Given the description of an element on the screen output the (x, y) to click on. 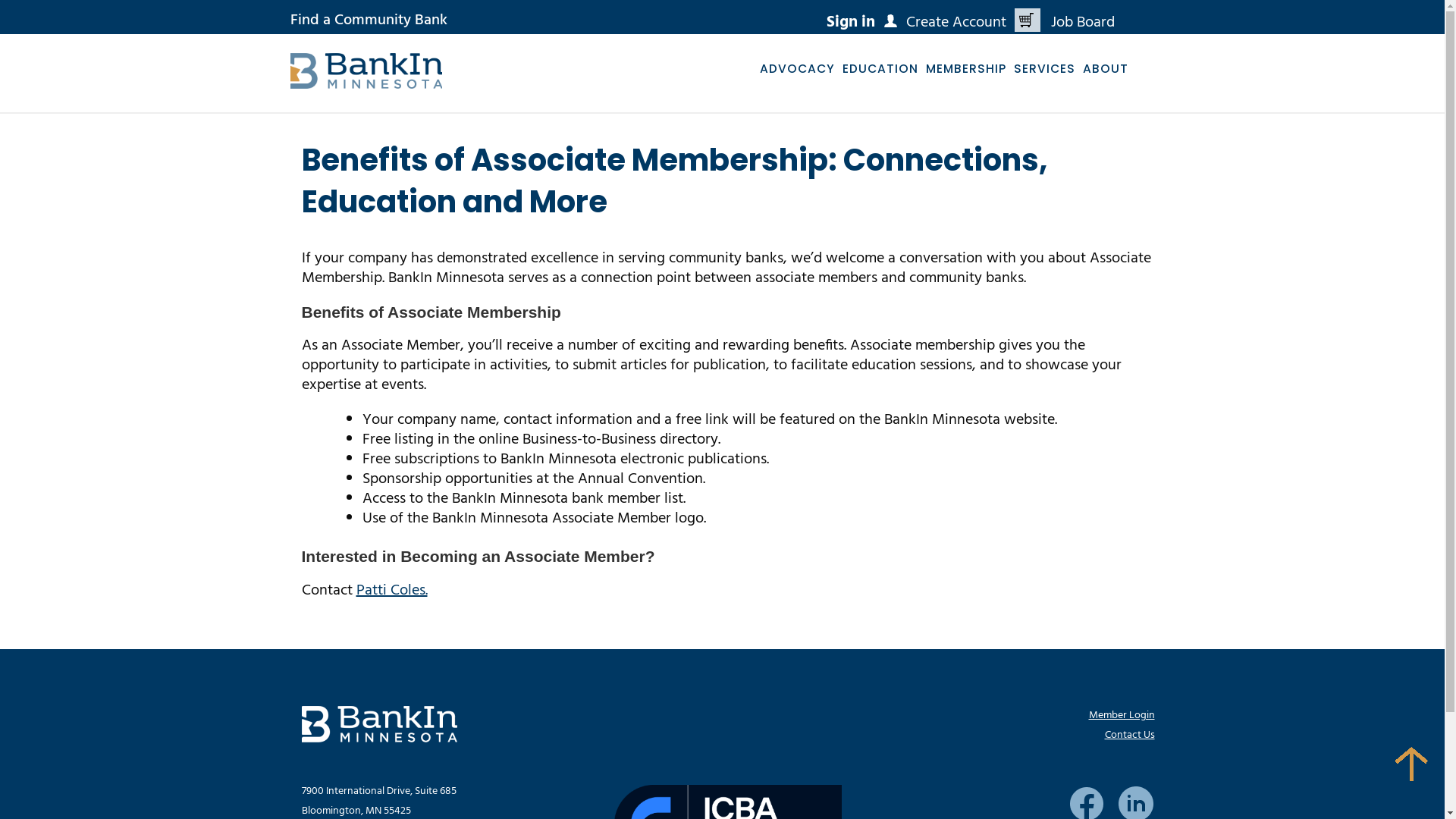
Find a Community Bank Element type: text (367, 20)
Create Account Element type: text (944, 20)
Back to Top Element type: text (1412, 763)
Patti Coles. Element type: text (391, 590)
Cart Element type: text (1027, 19)
ABOUT Element type: text (1104, 67)
EDUCATION Element type: text (880, 67)
Member Login Element type: text (1121, 715)
Sign in Element type: text (850, 19)
ADVOCACY Element type: text (796, 67)
Go Element type: text (29, 14)
Job Board Element type: text (1082, 19)
SERVICES Element type: text (1044, 67)
Contact Us Element type: text (1129, 734)
MEMBERSHIP Element type: text (966, 67)
